Given the description of an element on the screen output the (x, y) to click on. 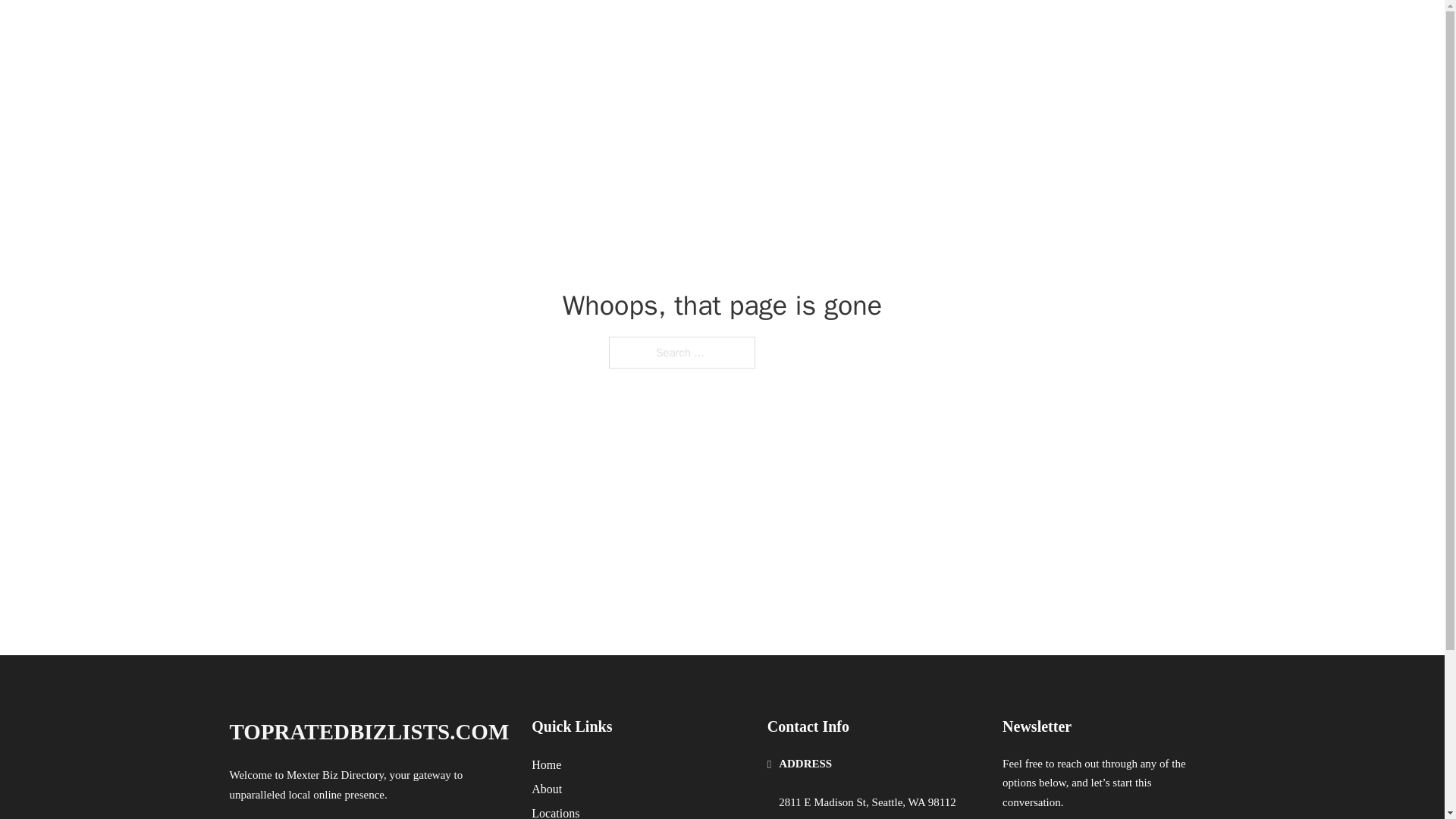
TOPRATEDBIZLISTS.COM (368, 732)
HOME (1025, 31)
Home (545, 764)
Locations (555, 811)
About (546, 788)
TOPRATEDBIZLISTS.COM (382, 31)
LOCATIONS (1098, 31)
